Given the description of an element on the screen output the (x, y) to click on. 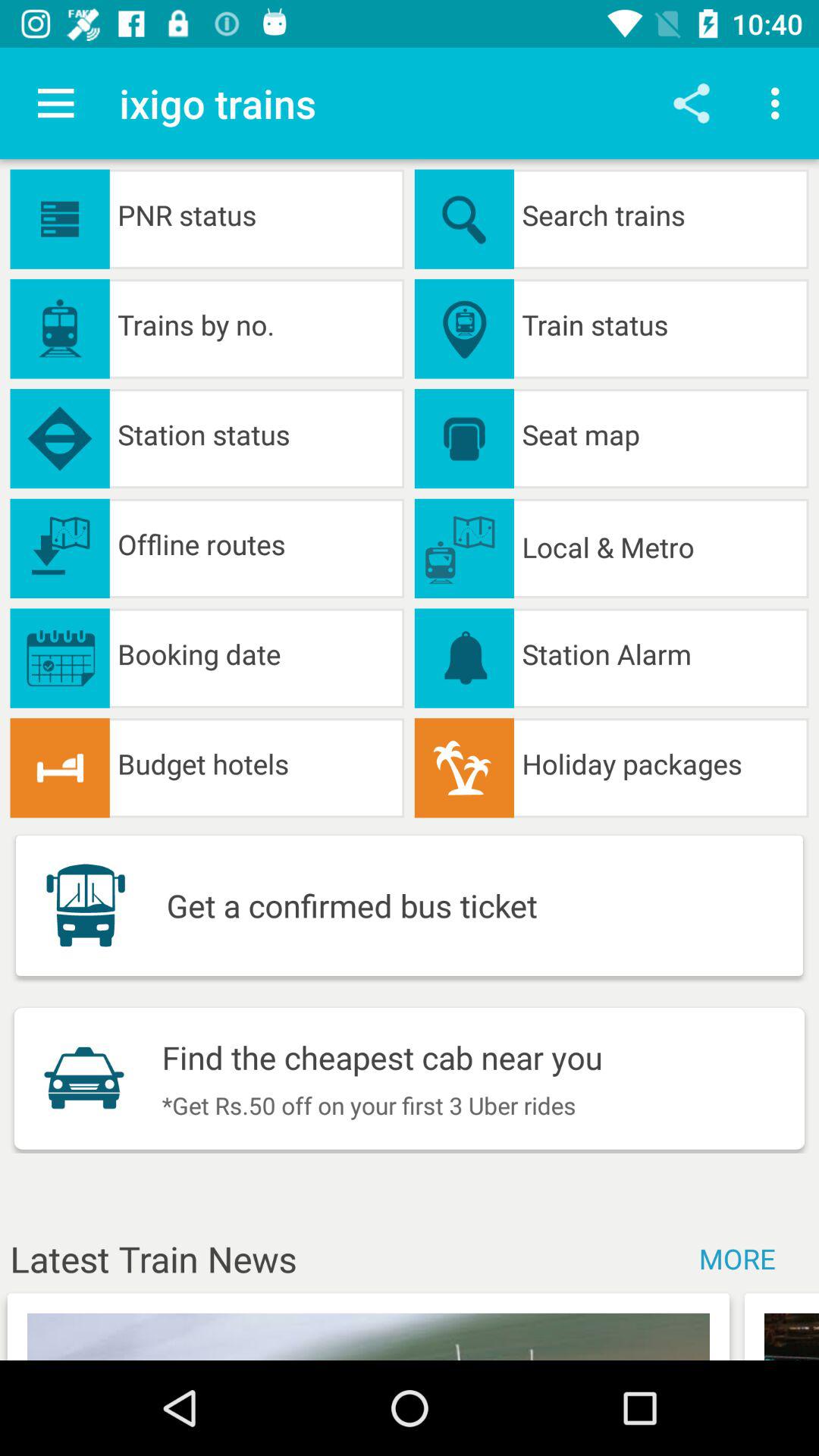
share button (691, 103)
